Given the description of an element on the screen output the (x, y) to click on. 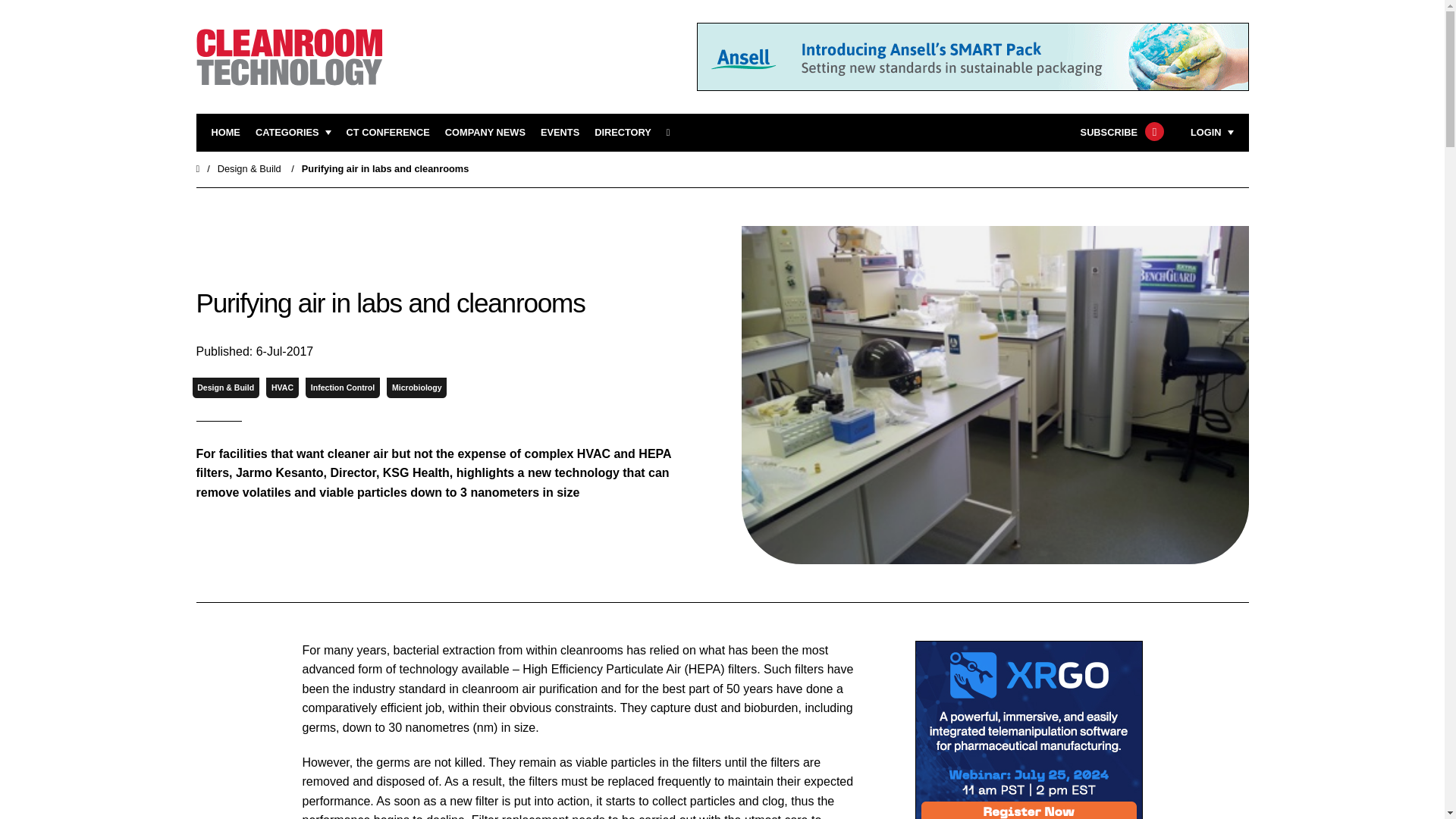
Cleanroom Technology (387, 133)
CT CONFERENCE (387, 133)
HOME (225, 133)
EVENTS (559, 133)
Infection Control (342, 387)
Directory (622, 133)
CATEGORIES (293, 133)
SUBSCRIBE (1120, 133)
LOGIN (1212, 133)
HVAC (282, 387)
Sign In (1134, 321)
Microbiology (416, 387)
DIRECTORY (622, 133)
COMPANY NEWS (485, 133)
SEARCH (672, 133)
